Given the description of an element on the screen output the (x, y) to click on. 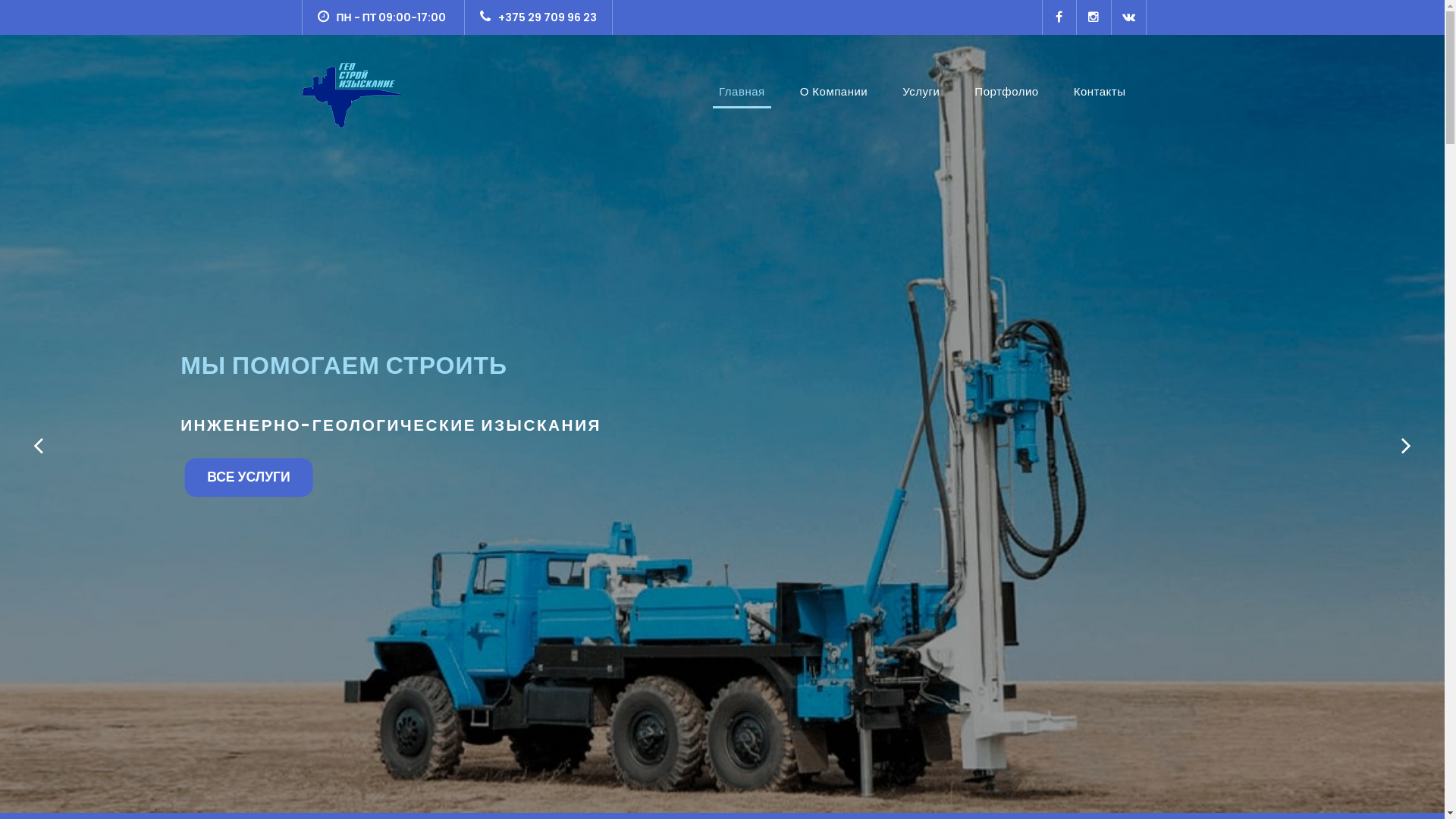
+375 29 709 96 23 Element type: text (538, 17)
